Given the description of an element on the screen output the (x, y) to click on. 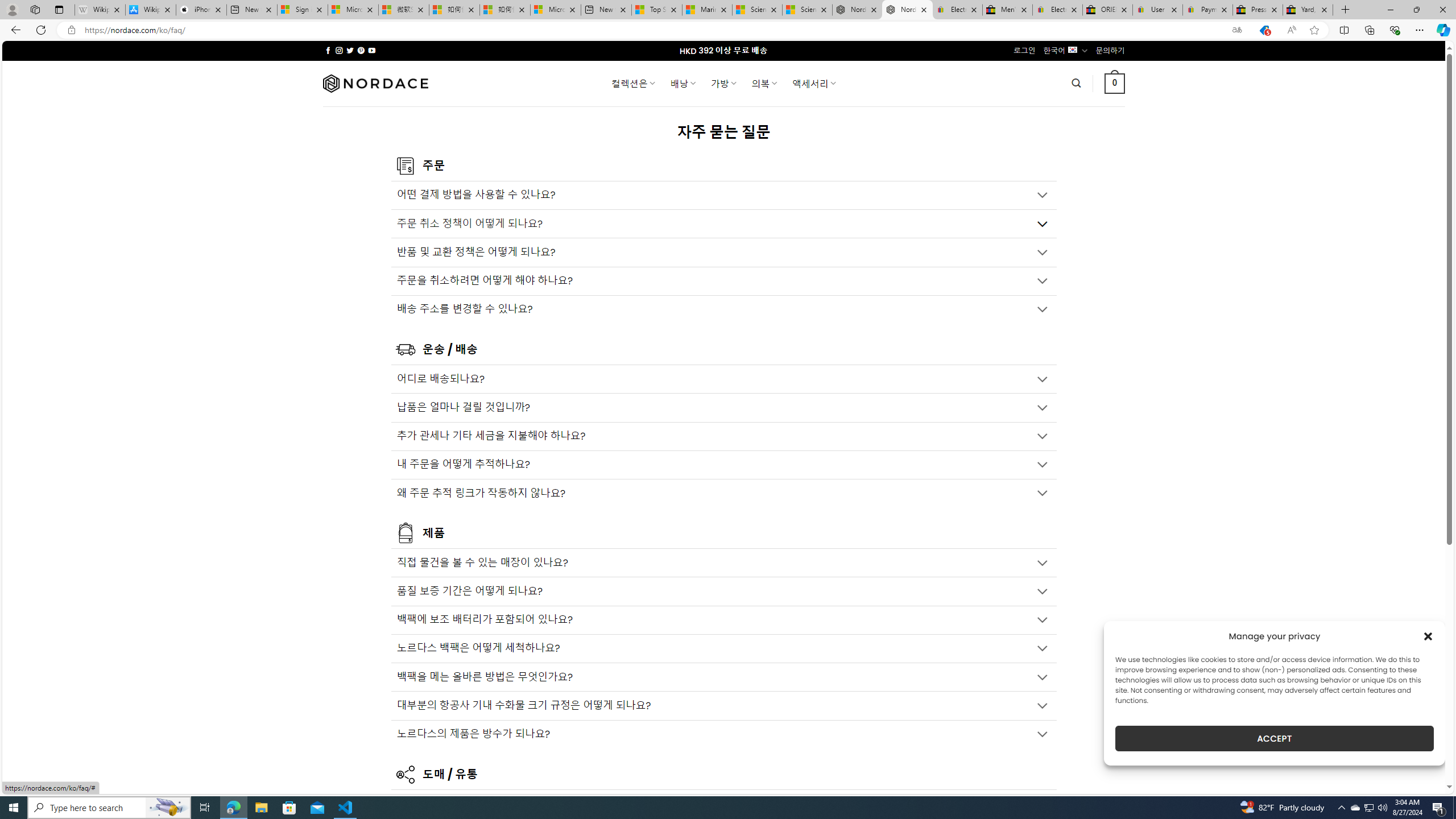
Nordace - FAQ (907, 9)
Follow on Facebook (327, 50)
User Privacy Notice | eBay (1158, 9)
Show translate options (1236, 29)
